Given the description of an element on the screen output the (x, y) to click on. 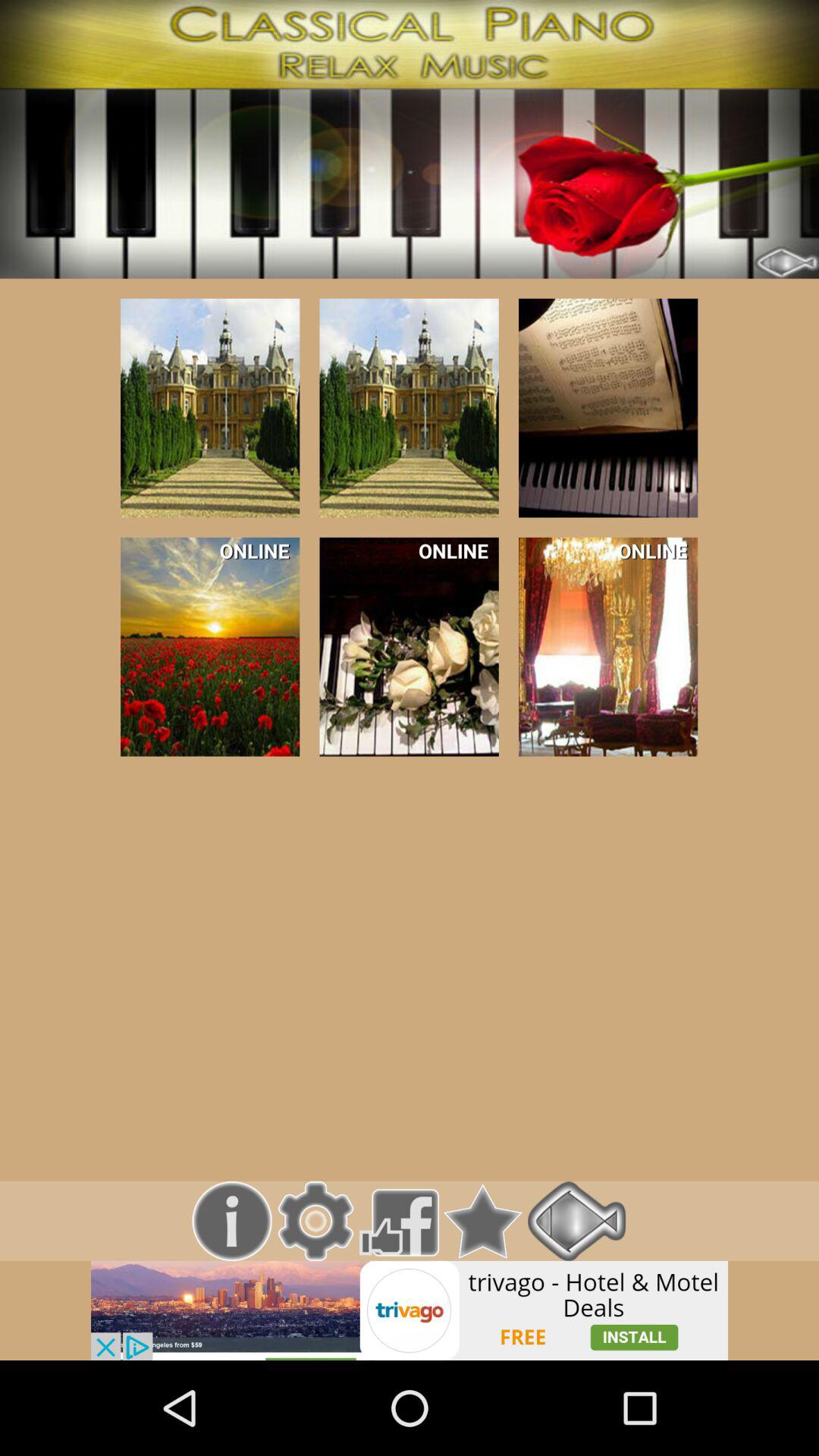
like their facebook page (399, 1220)
